Given the description of an element on the screen output the (x, y) to click on. 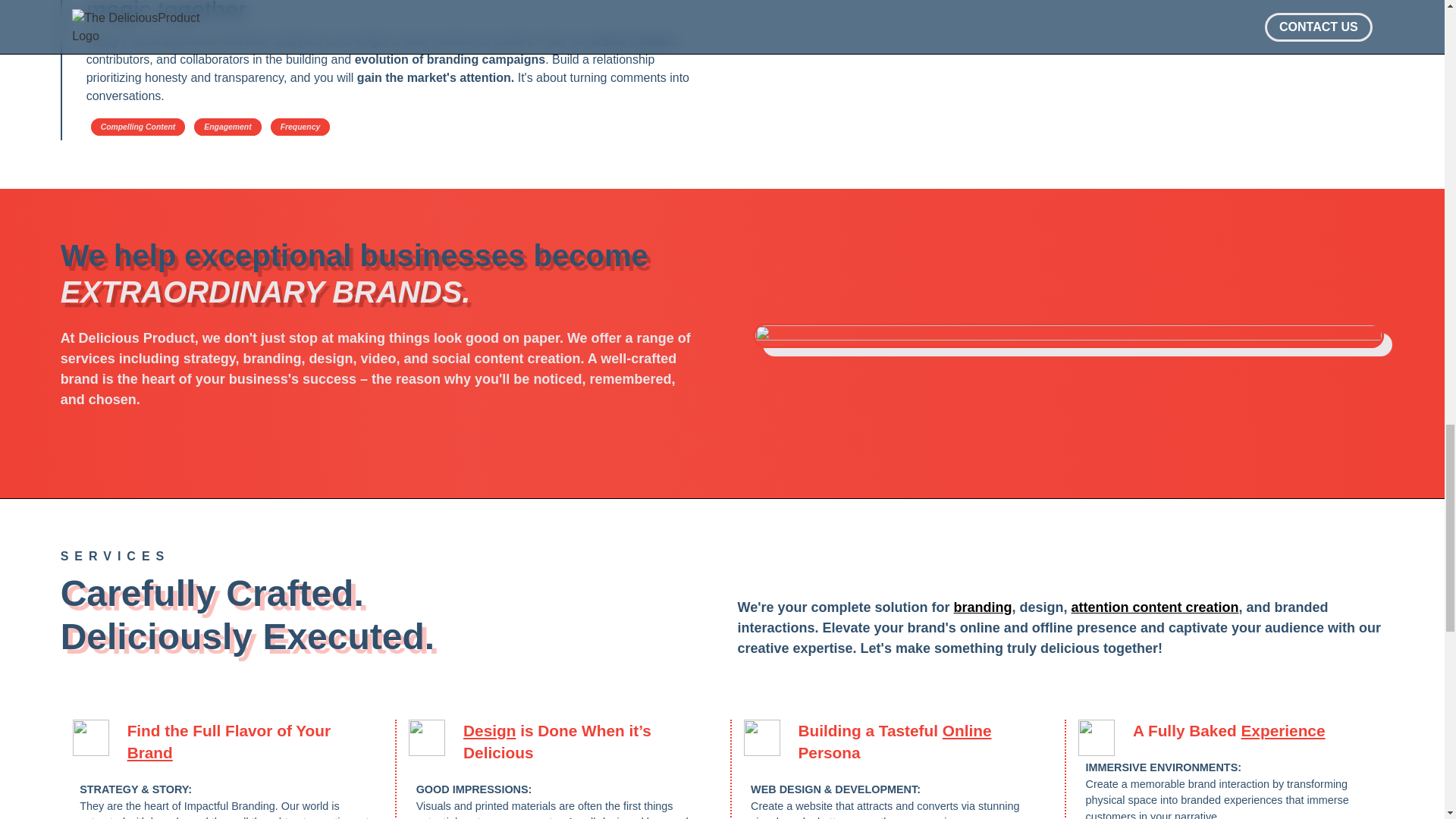
branding (982, 607)
attention content creation (1155, 607)
